Given the description of an element on the screen output the (x, y) to click on. 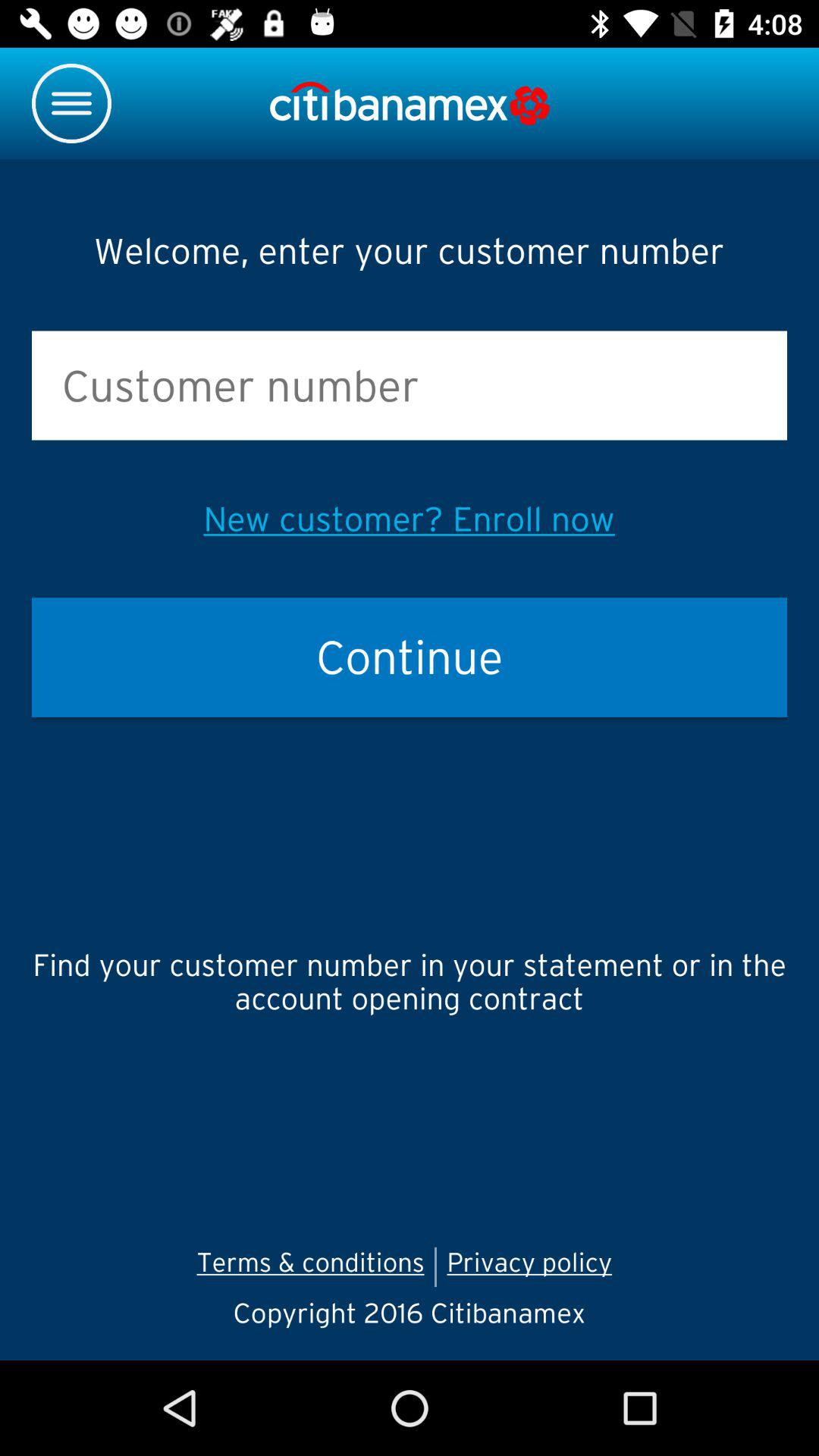
scroll to continue item (409, 657)
